Given the description of an element on the screen output the (x, y) to click on. 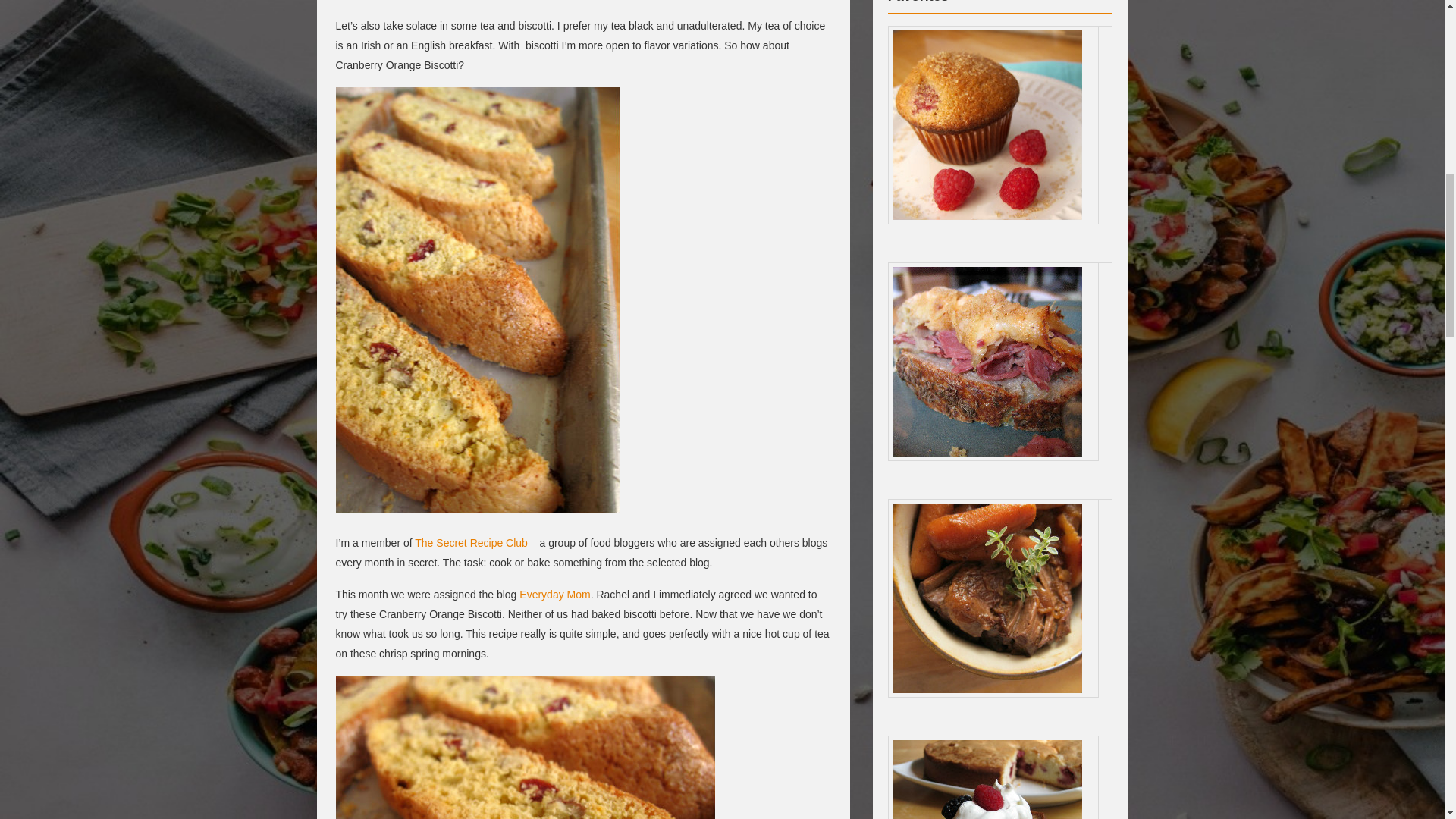
The Secret Recipe Club (470, 542)
Everyday Mom (554, 594)
cranberry orange biscotti (524, 747)
